Given the description of an element on the screen output the (x, y) to click on. 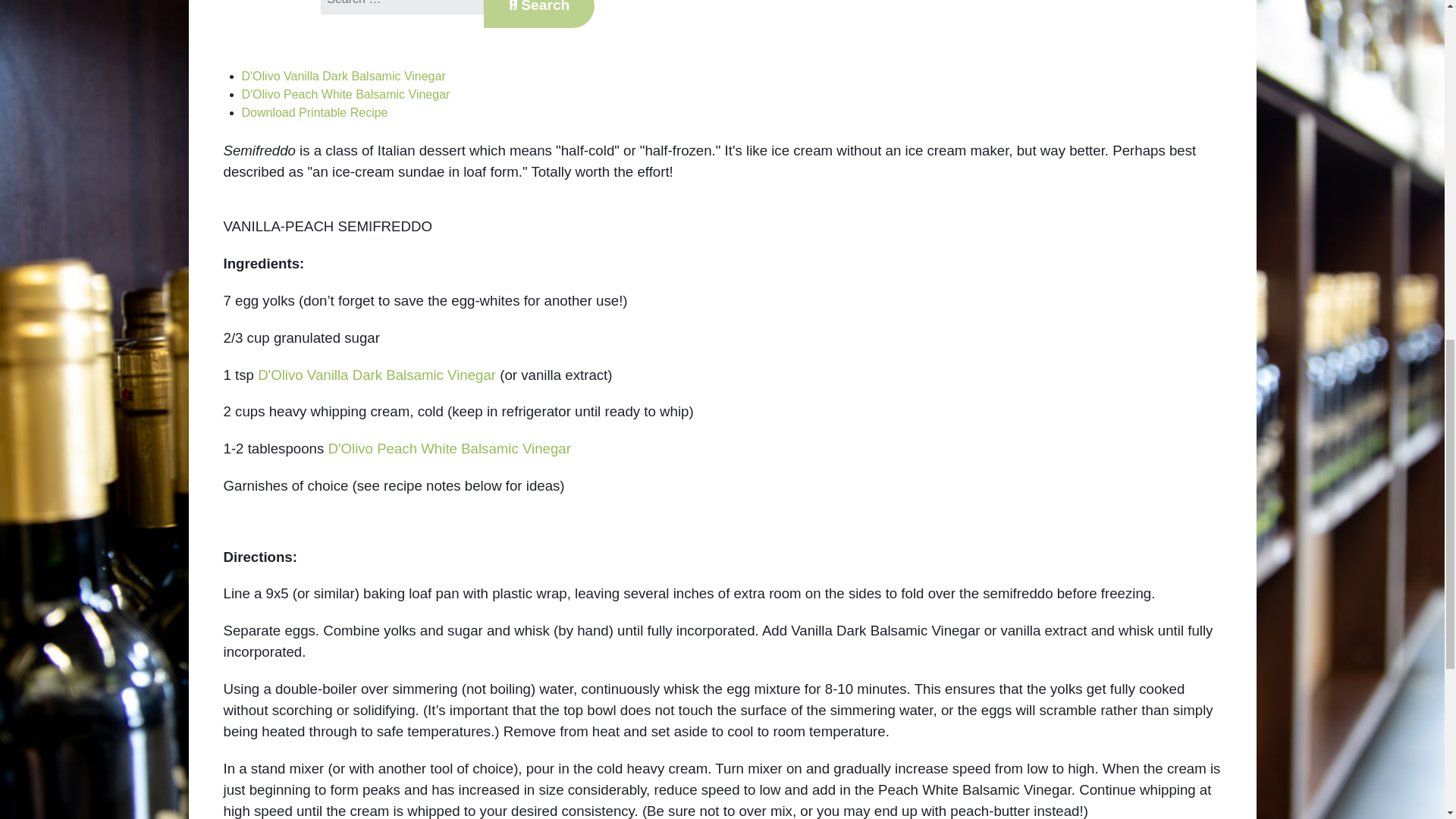
Search (538, 13)
D'Olivo Vanilla Dark Balsamic Vinegar (343, 75)
D'Olivo Peach White Balsamic Vinegar (345, 93)
